Given the description of an element on the screen output the (x, y) to click on. 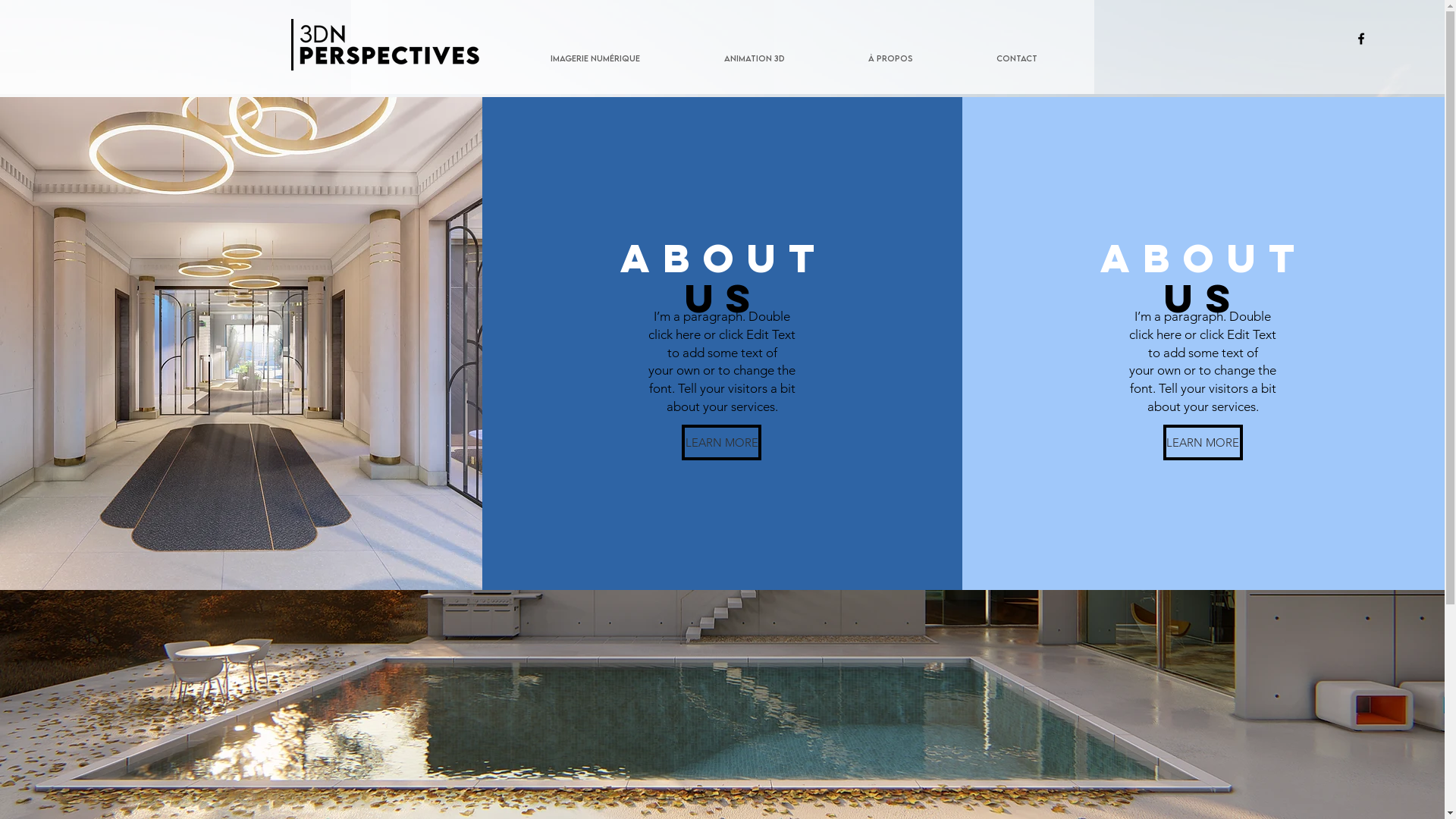
Animation 3D Element type: text (754, 57)
Contact Element type: text (1015, 57)
